Given the description of an element on the screen output the (x, y) to click on. 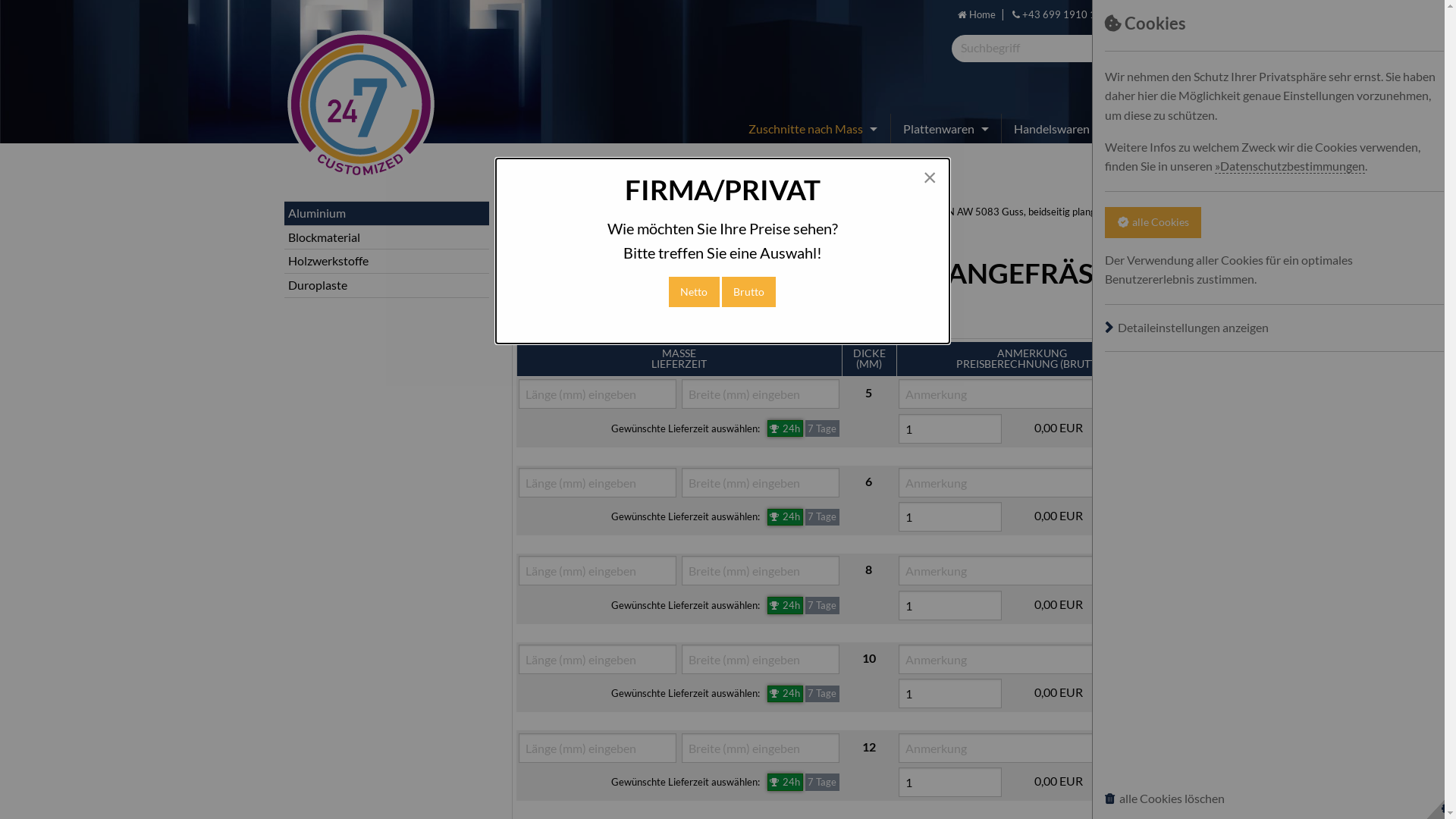
Home Element type: text (976, 14)
Blockmaterial Element type: text (324, 236)
Login Element type: text (1148, 14)
Datenschutzbestimmungen Element type: text (1289, 165)
Plattenwaren Element type: text (941, 127)
+43 699 1910 1510 Element type: text (1062, 14)
 alle Cookies Element type: text (1152, 222)
Aluminium Element type: text (904, 211)
Netto Element type: text (693, 291)
Aluminium Element type: text (316, 212)
Handelswaren Element type: text (1054, 127)
Holzwerkstoffe Element type: text (328, 260)
Zuschnitte nach Mass Element type: text (808, 127)
Duroplaste Element type: text (317, 284)
Brutto Element type: text (748, 291)
Zuschnitte nach Mass Element type: text (823, 211)
Reste Element type: text (1143, 127)
